Given the description of an element on the screen output the (x, y) to click on. 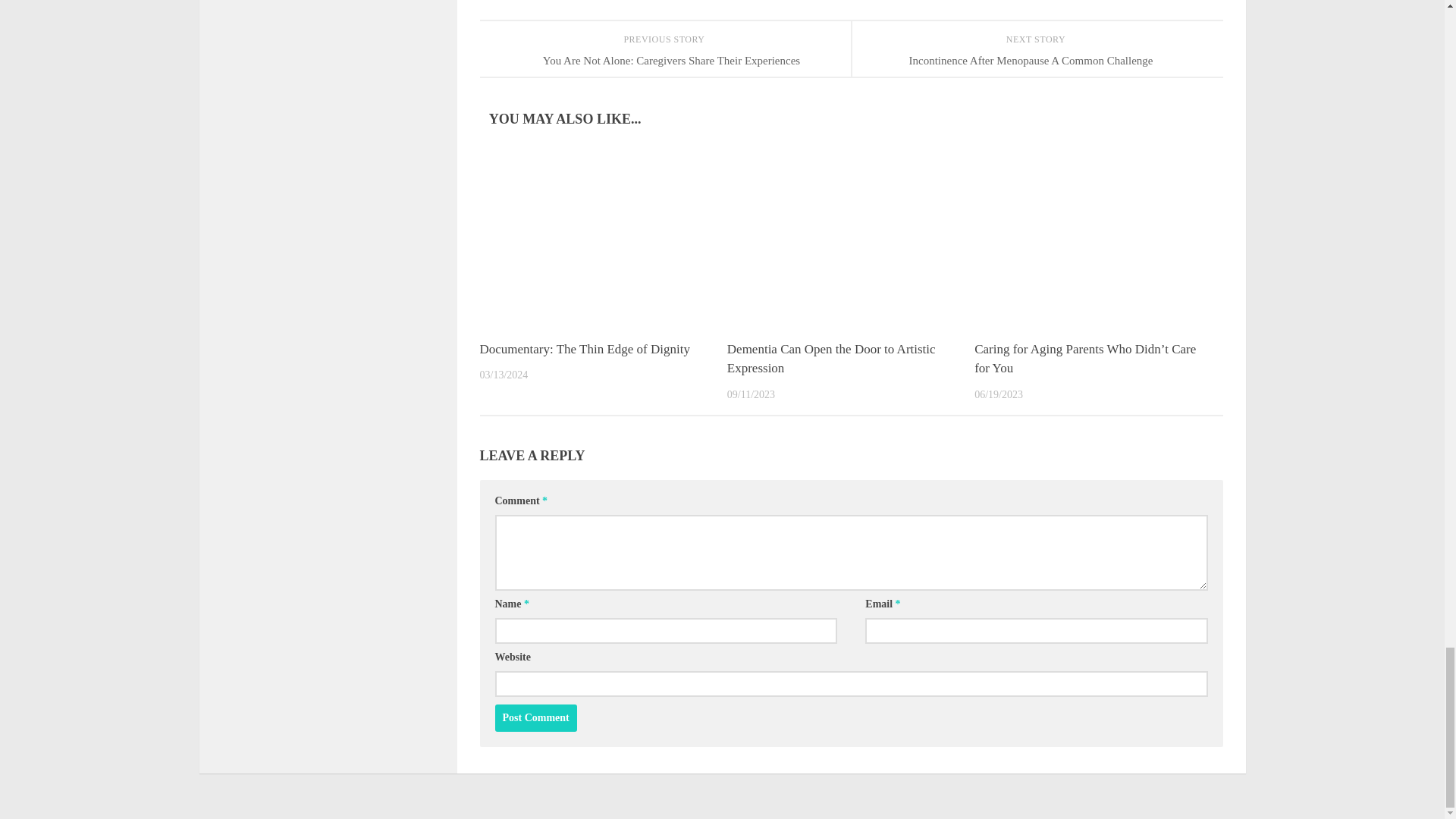
Dementia Can Open the Door to Artistic Expression (831, 358)
Incontinence After Menopause A Common Challenge (1036, 61)
You Are Not Alone: Caregivers Share Their Experiences (664, 61)
Post Comment (535, 718)
Documentary: The Thin Edge of Dignity (583, 349)
Post Comment (535, 718)
